Given the description of an element on the screen output the (x, y) to click on. 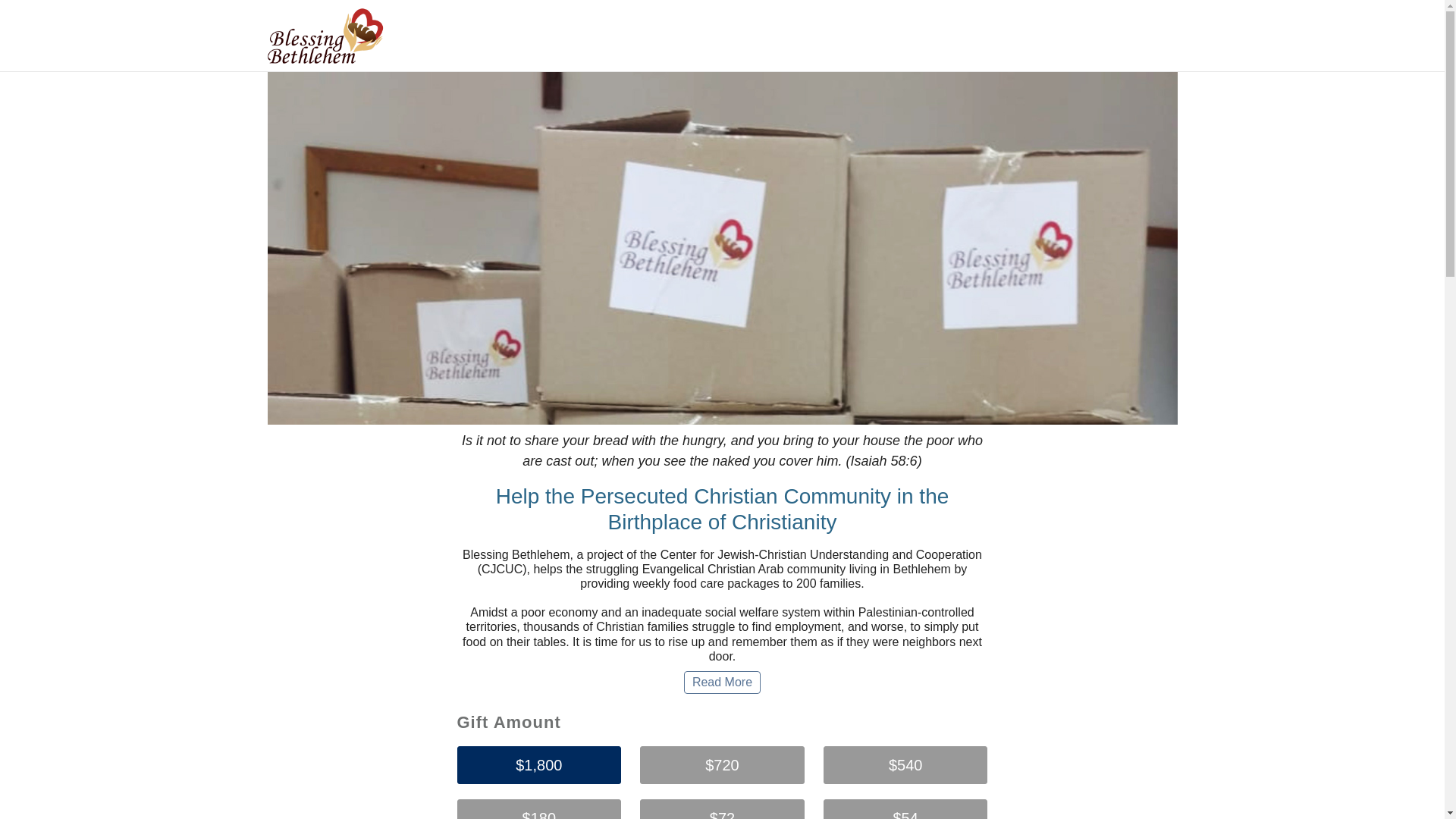
Read More (722, 681)
